Given the description of an element on the screen output the (x, y) to click on. 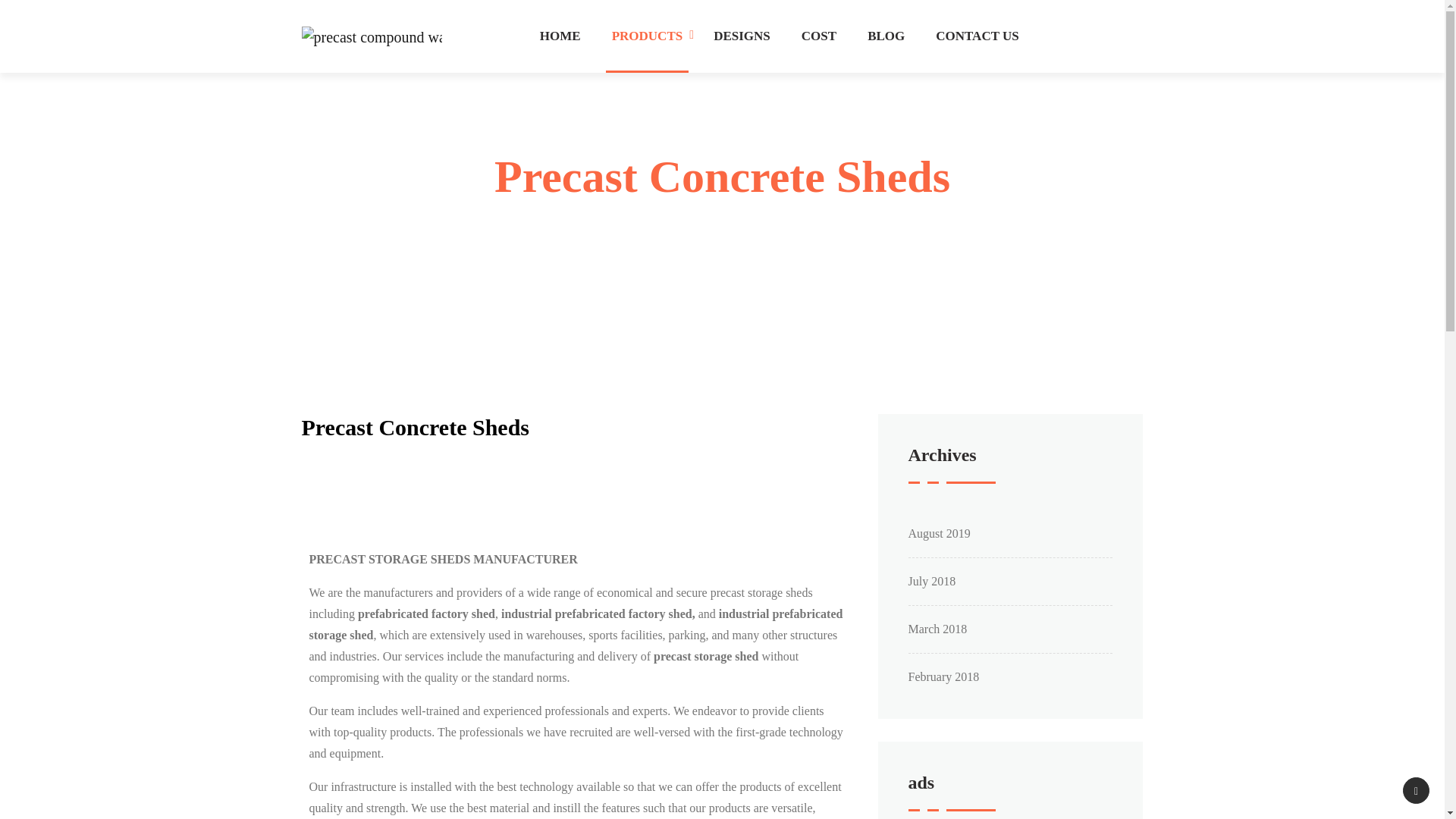
Back to Top (1416, 790)
August 2019 (939, 533)
Home (651, 228)
DESIGNS (741, 36)
CONTACT US (977, 36)
March 2018 (938, 628)
February 2018 (943, 676)
PRODUCTS (646, 36)
July 2018 (932, 581)
